Given the description of an element on the screen output the (x, y) to click on. 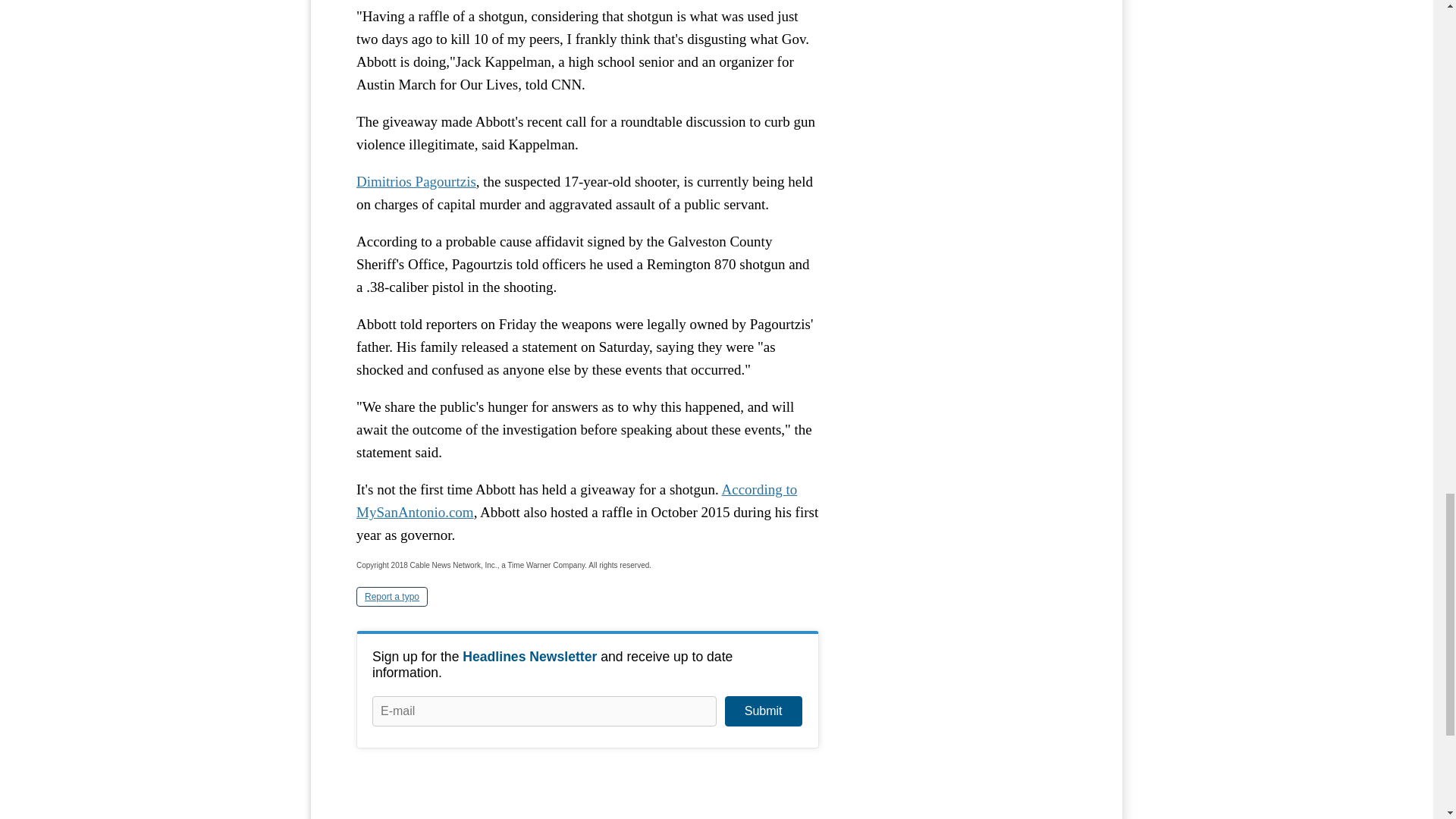
Submit (763, 711)
